Given the description of an element on the screen output the (x, y) to click on. 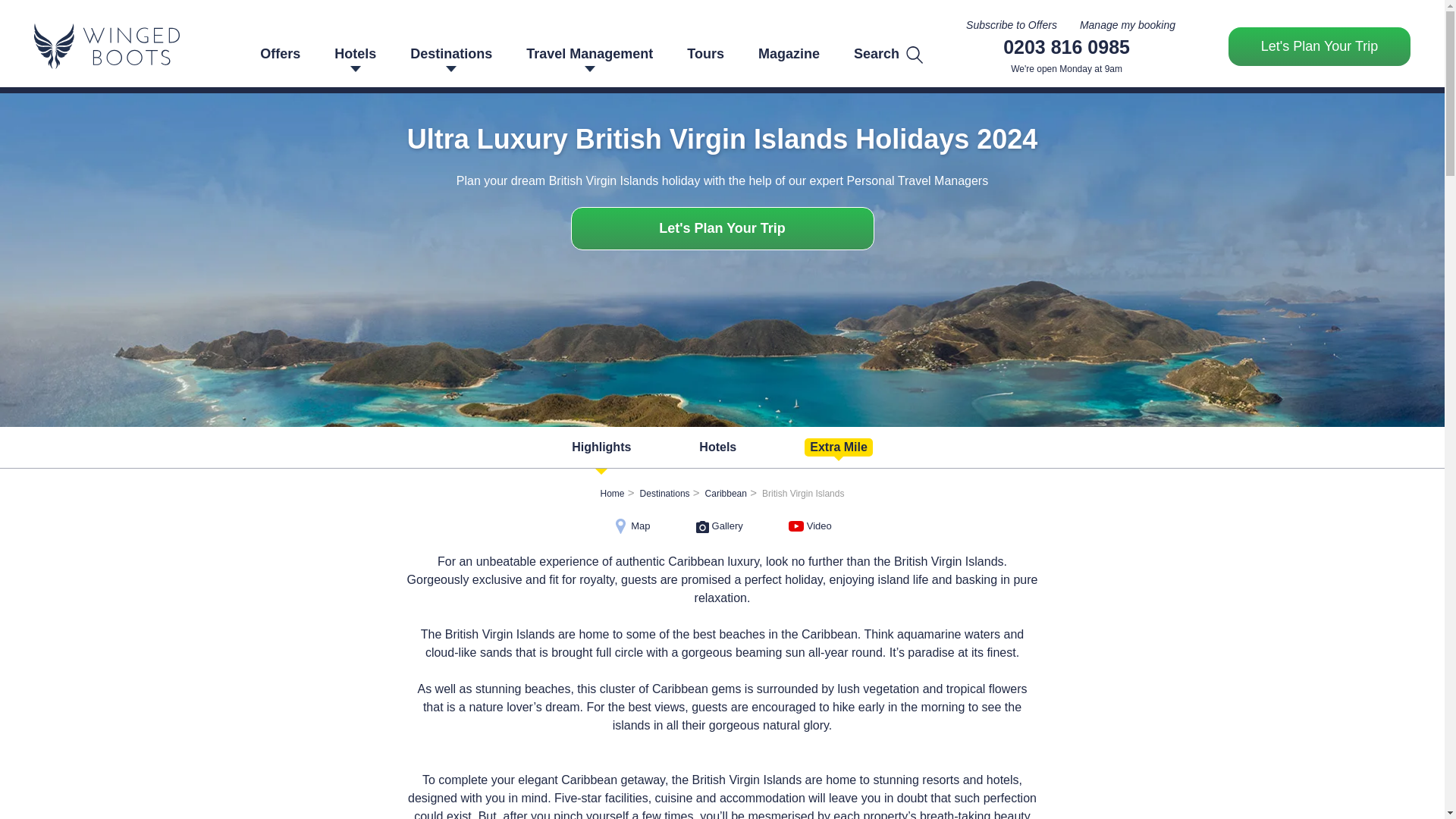
Home (611, 493)
Caribbean (725, 493)
Destinations (665, 493)
